Given the description of an element on the screen output the (x, y) to click on. 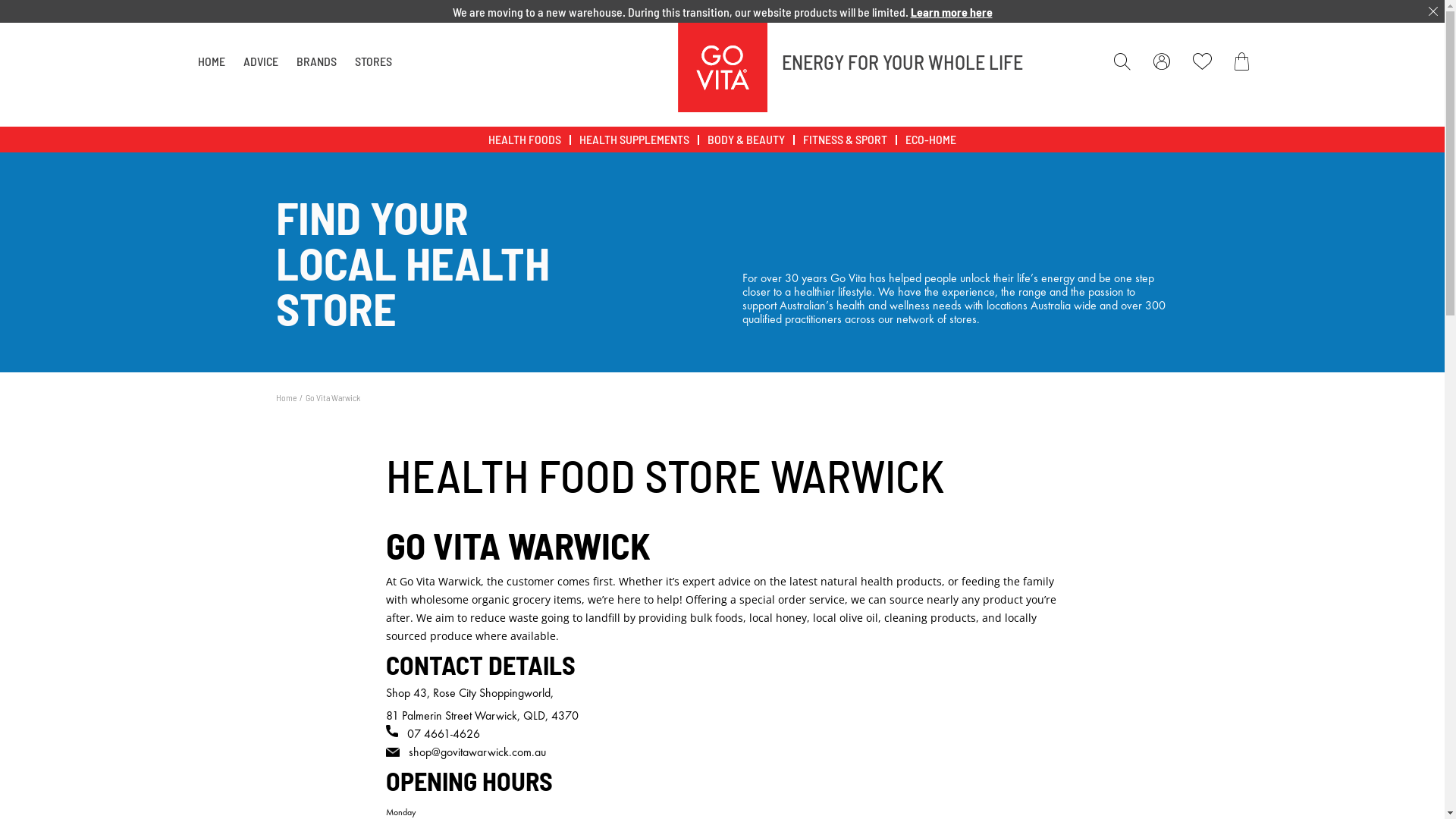
Learn more here Element type: text (950, 11)
STORES Element type: text (373, 61)
ADVICE Element type: text (259, 61)
HEALTH SUPPLEMENTS Element type: text (634, 139)
Home Element type: text (286, 397)
BRANDS Element type: text (315, 61)
Go Vita Element type: text (722, 67)
Bag Element type: text (1245, 60)
FITNESS & SPORT Element type: text (844, 139)
HEALTH FOODS Element type: text (524, 139)
ECO-HOME Element type: text (930, 139)
HOME Element type: text (210, 61)
BODY & BEAUTY Element type: text (745, 139)
